Given the description of an element on the screen output the (x, y) to click on. 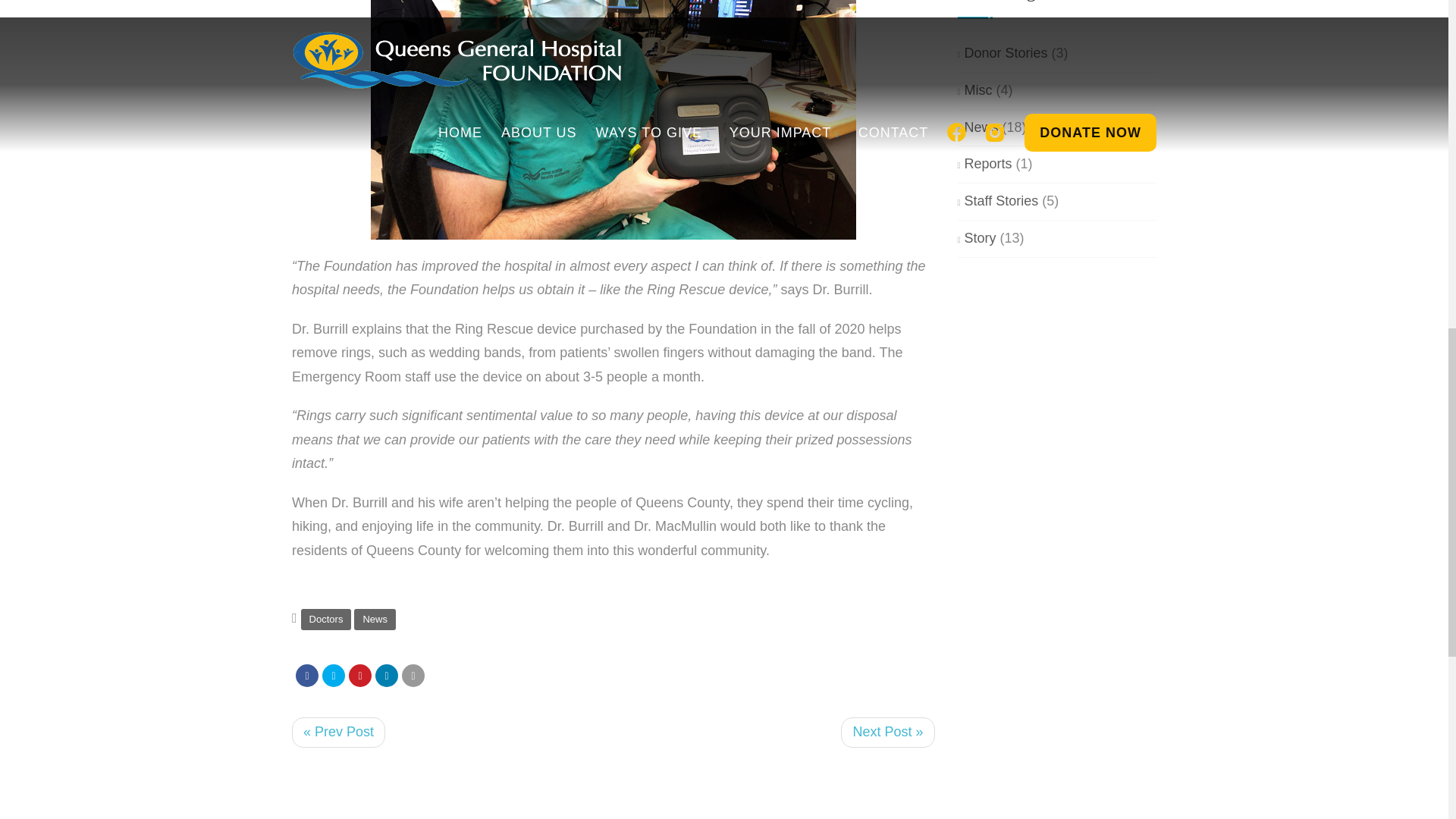
Share on Linkedin (386, 675)
Email (413, 675)
Doctors (326, 619)
News (374, 619)
Pin it (360, 675)
Tweet (333, 675)
Share on Facebook (306, 675)
